Given the description of an element on the screen output the (x, y) to click on. 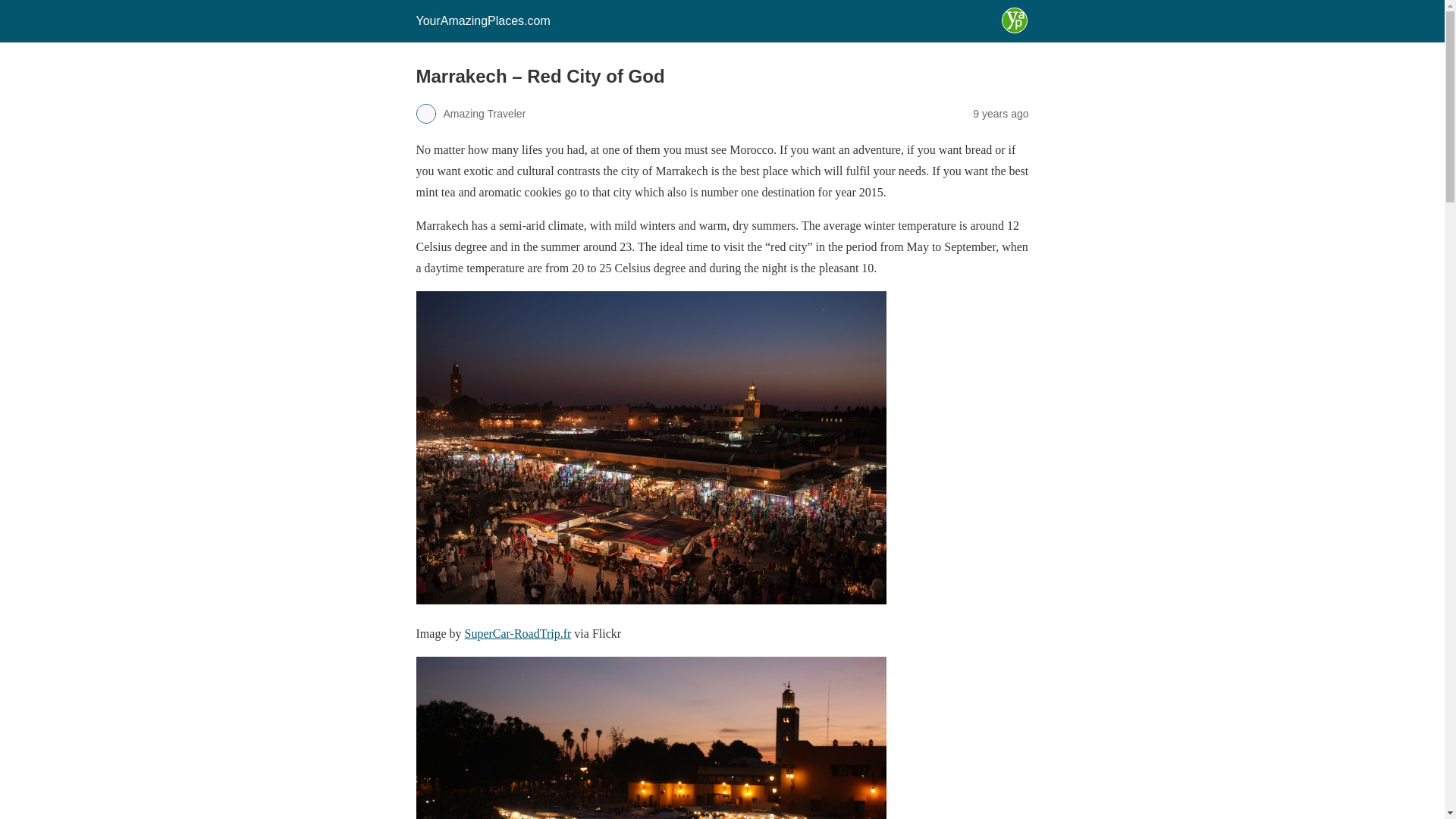
Go to SuperCar-RoadTrip.fr's photostream (517, 633)
SuperCar-RoadTrip.fr (517, 633)
Marrakech - Red City of God (649, 737)
YourAmazingPlaces.com (482, 20)
